Given the description of an element on the screen output the (x, y) to click on. 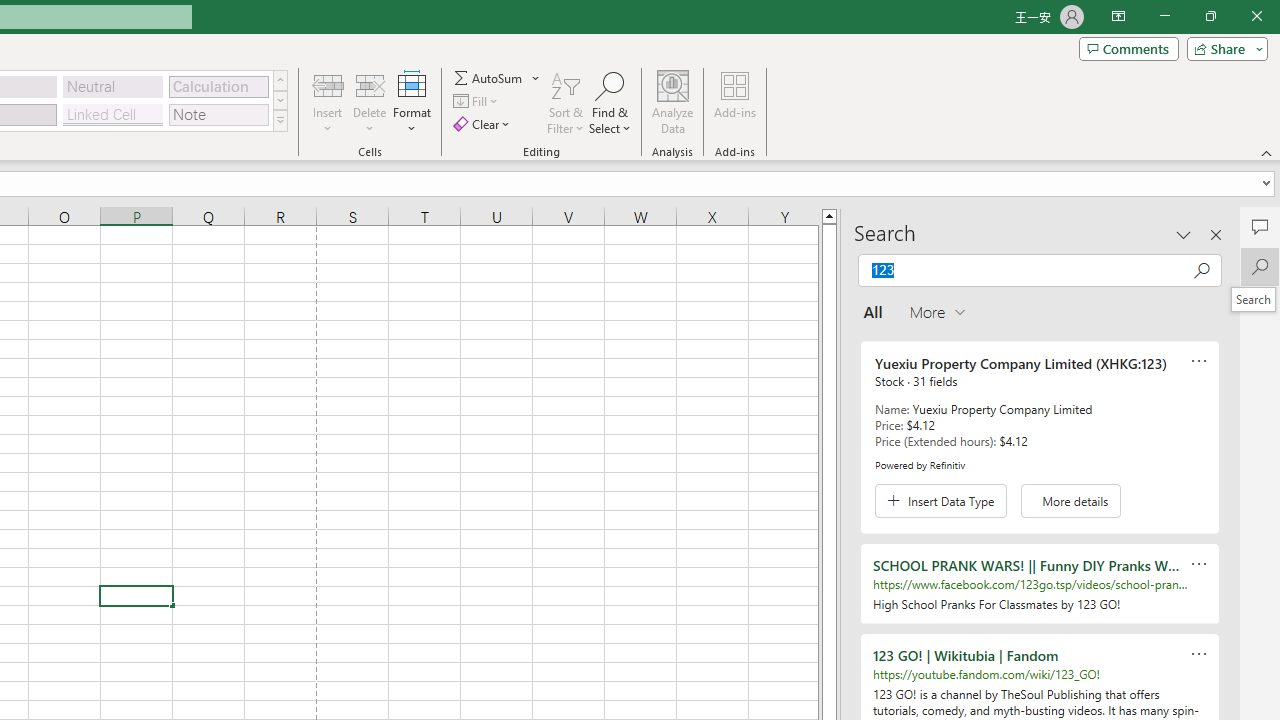
Format (411, 102)
Note (218, 114)
Sum (489, 78)
